Given the description of an element on the screen output the (x, y) to click on. 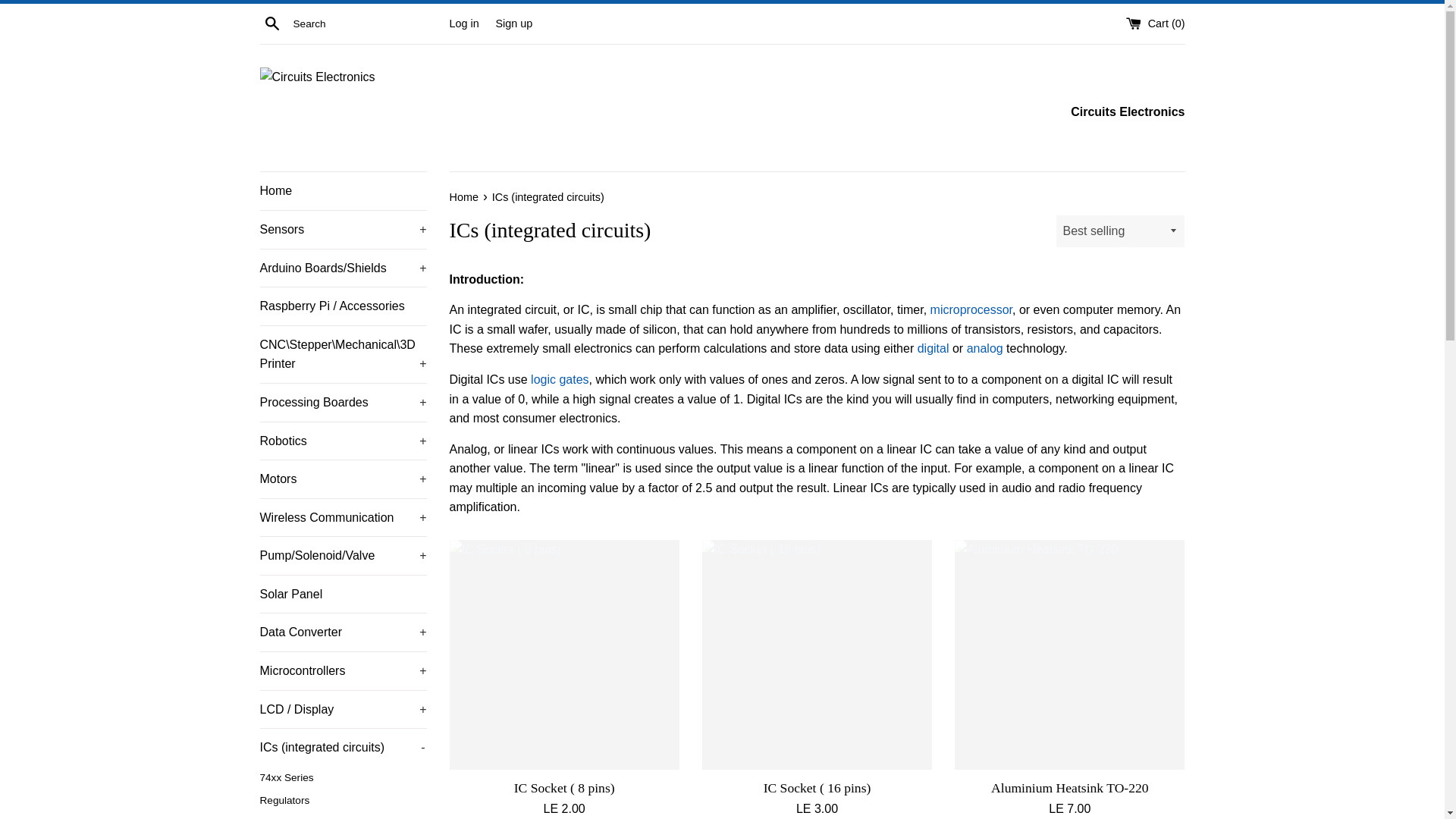
Log in (463, 22)
Home (342, 190)
Search (271, 22)
Sign up (513, 22)
Back to the frontpage (464, 196)
Aluminium Heatsink  TO-220 (1070, 654)
